Given the description of an element on the screen output the (x, y) to click on. 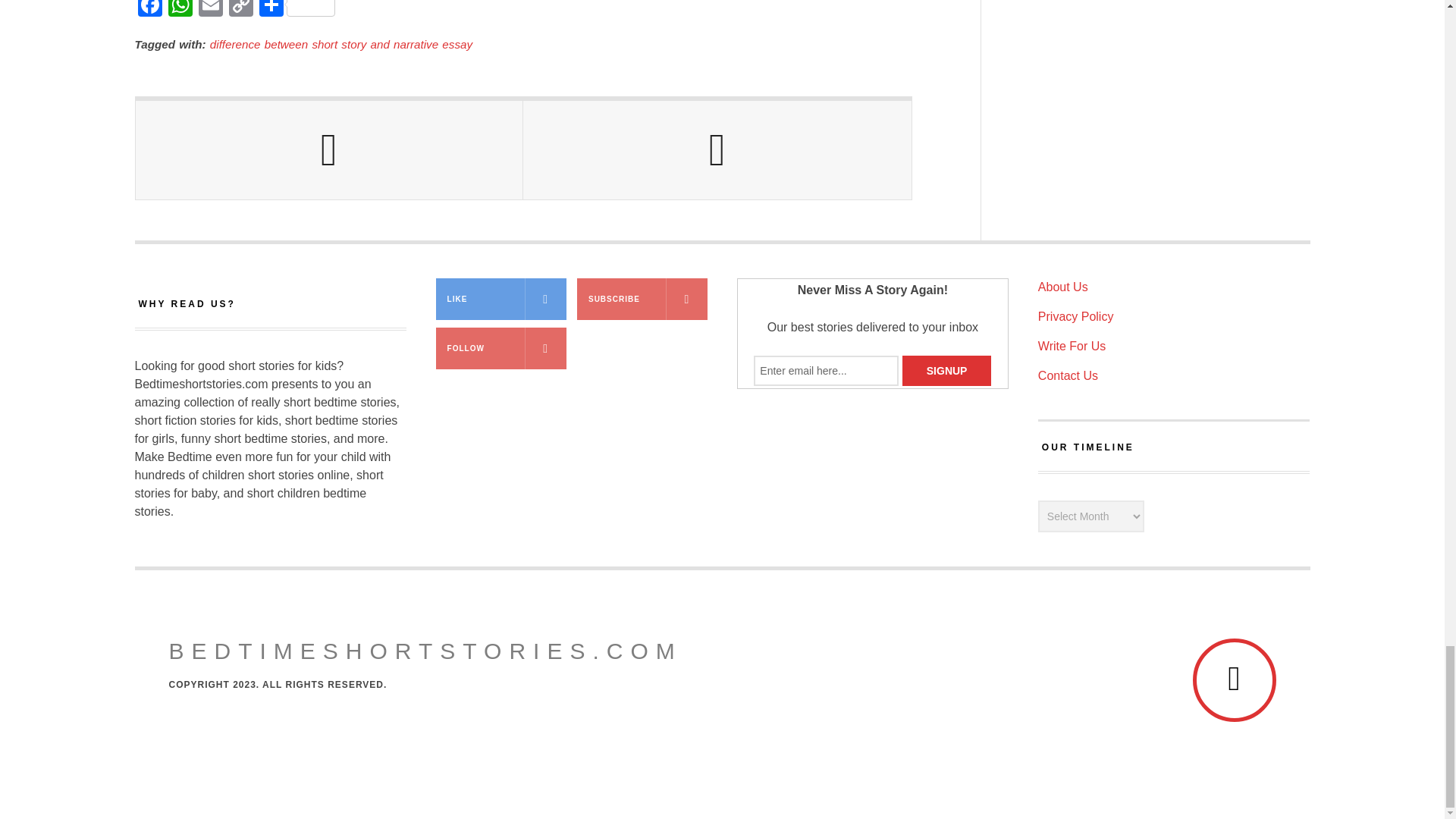
Enter email here... (826, 370)
WhatsApp (180, 10)
Email (210, 10)
Facebook (150, 10)
Signup (946, 370)
Copy Link (240, 10)
Previous Post (328, 149)
Next Post (716, 149)
